Given the description of an element on the screen output the (x, y) to click on. 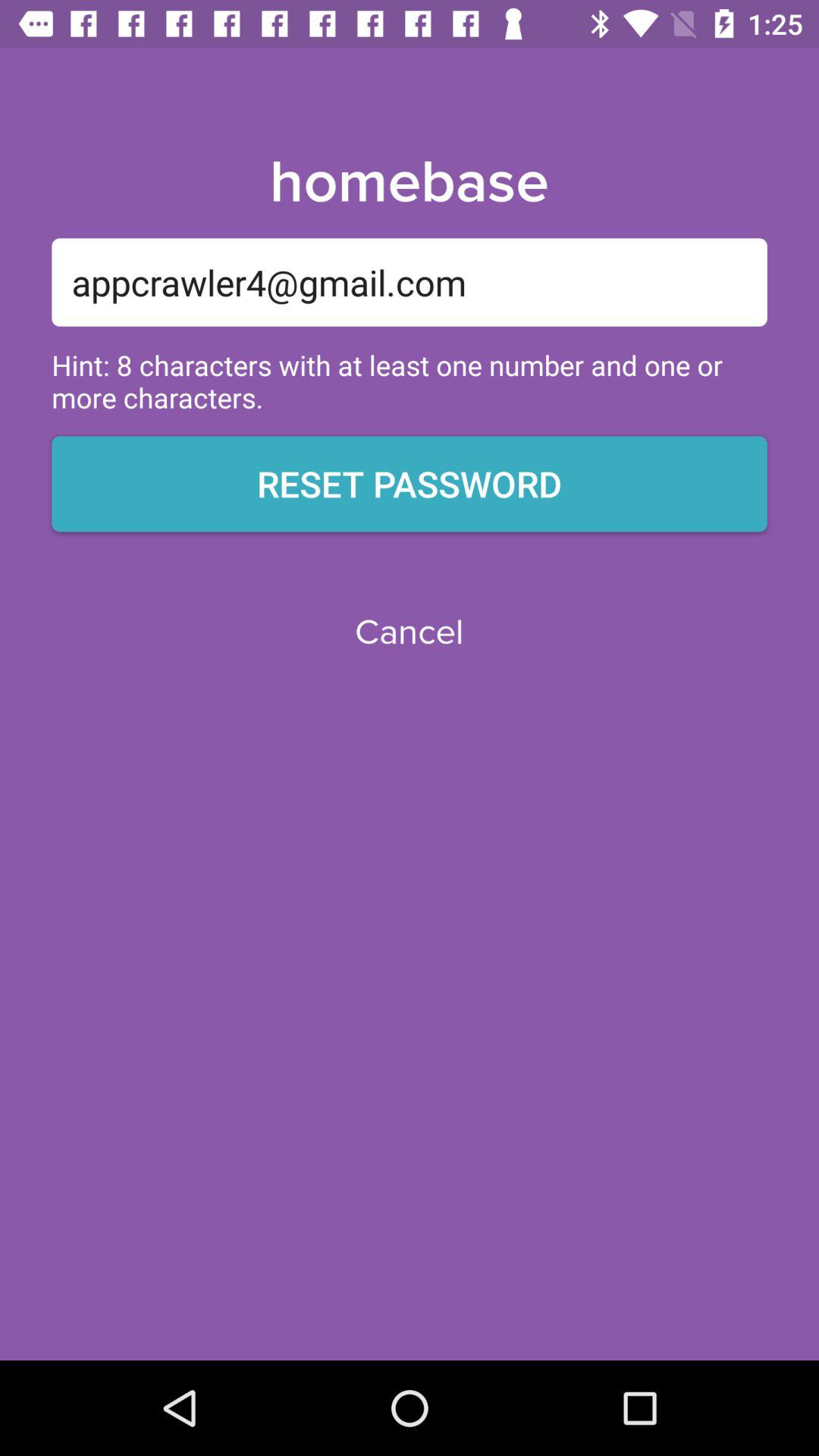
press the item above appcrawler4@gmail.com (408, 182)
